Given the description of an element on the screen output the (x, y) to click on. 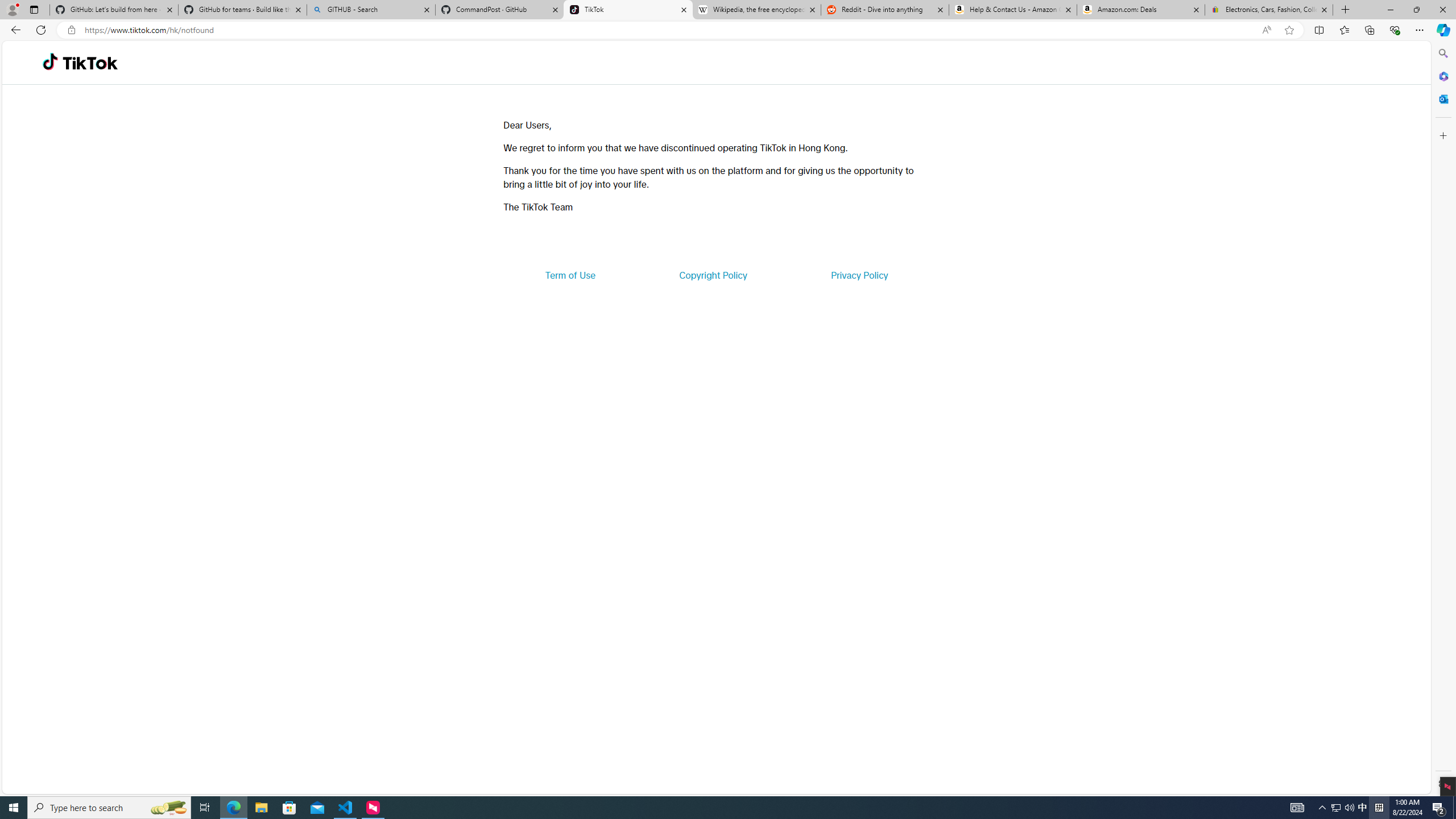
GITHUB - Search (370, 9)
